Given the description of an element on the screen output the (x, y) to click on. 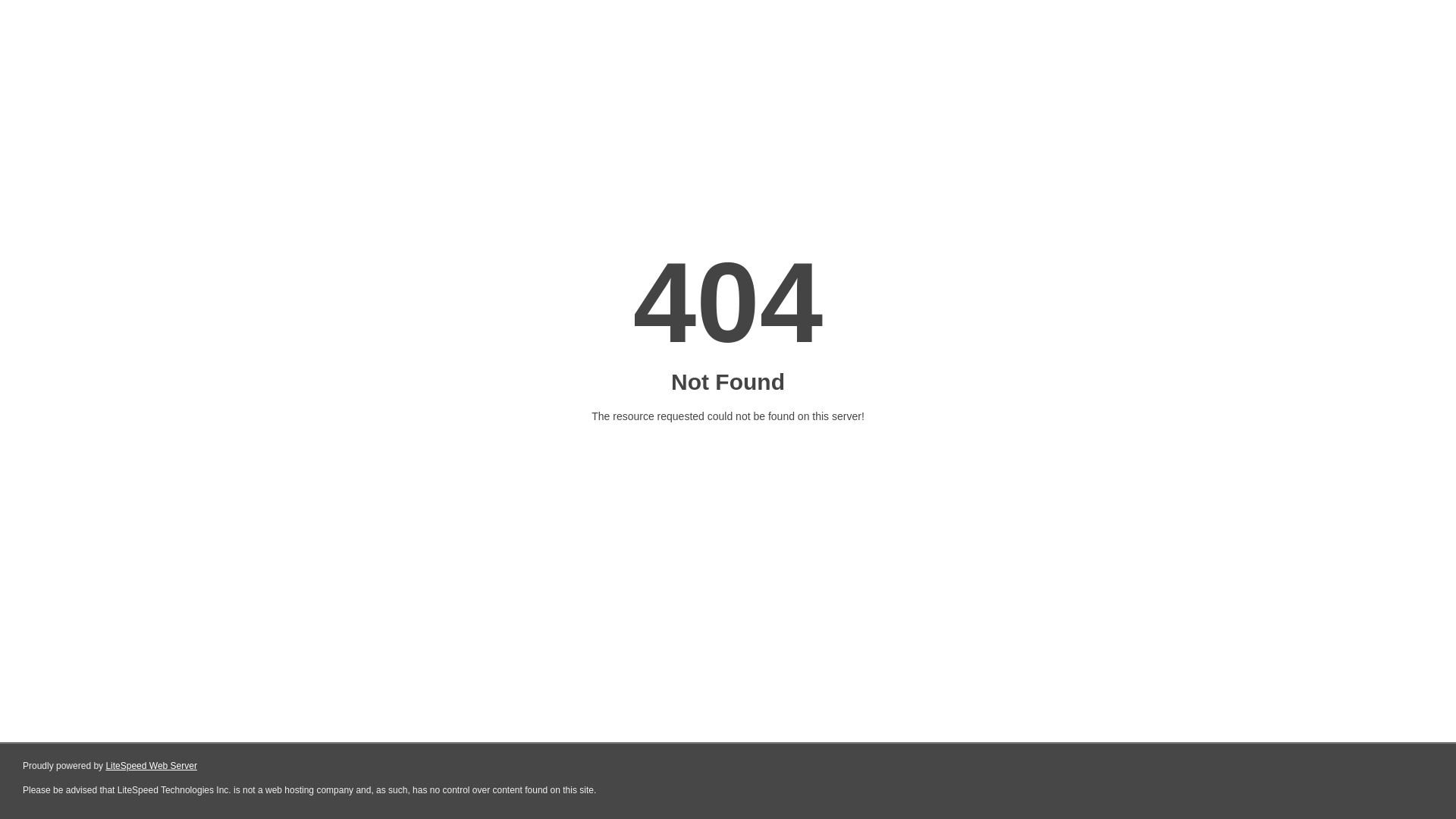
LiteSpeed Web Server Element type: text (151, 765)
